Given the description of an element on the screen output the (x, y) to click on. 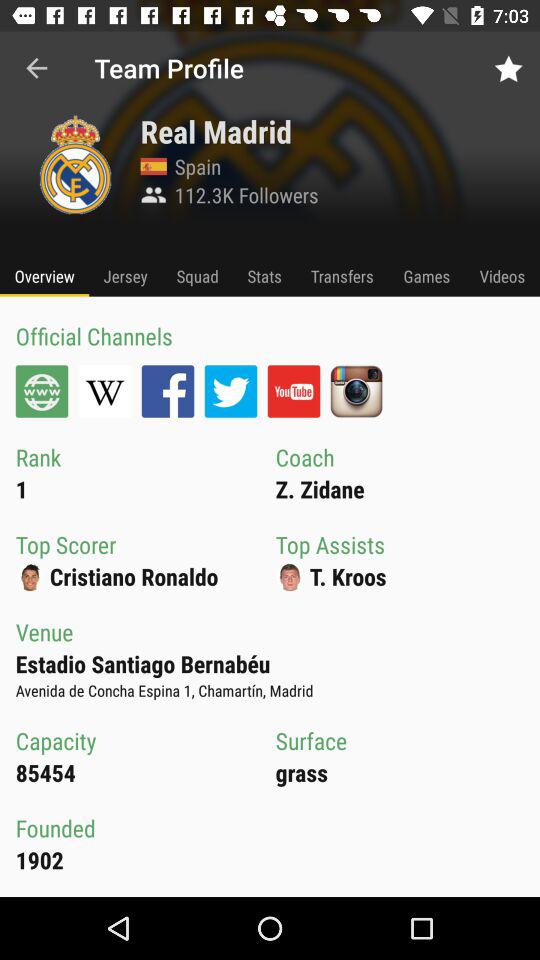
turn on the games app (426, 276)
